Given the description of an element on the screen output the (x, y) to click on. 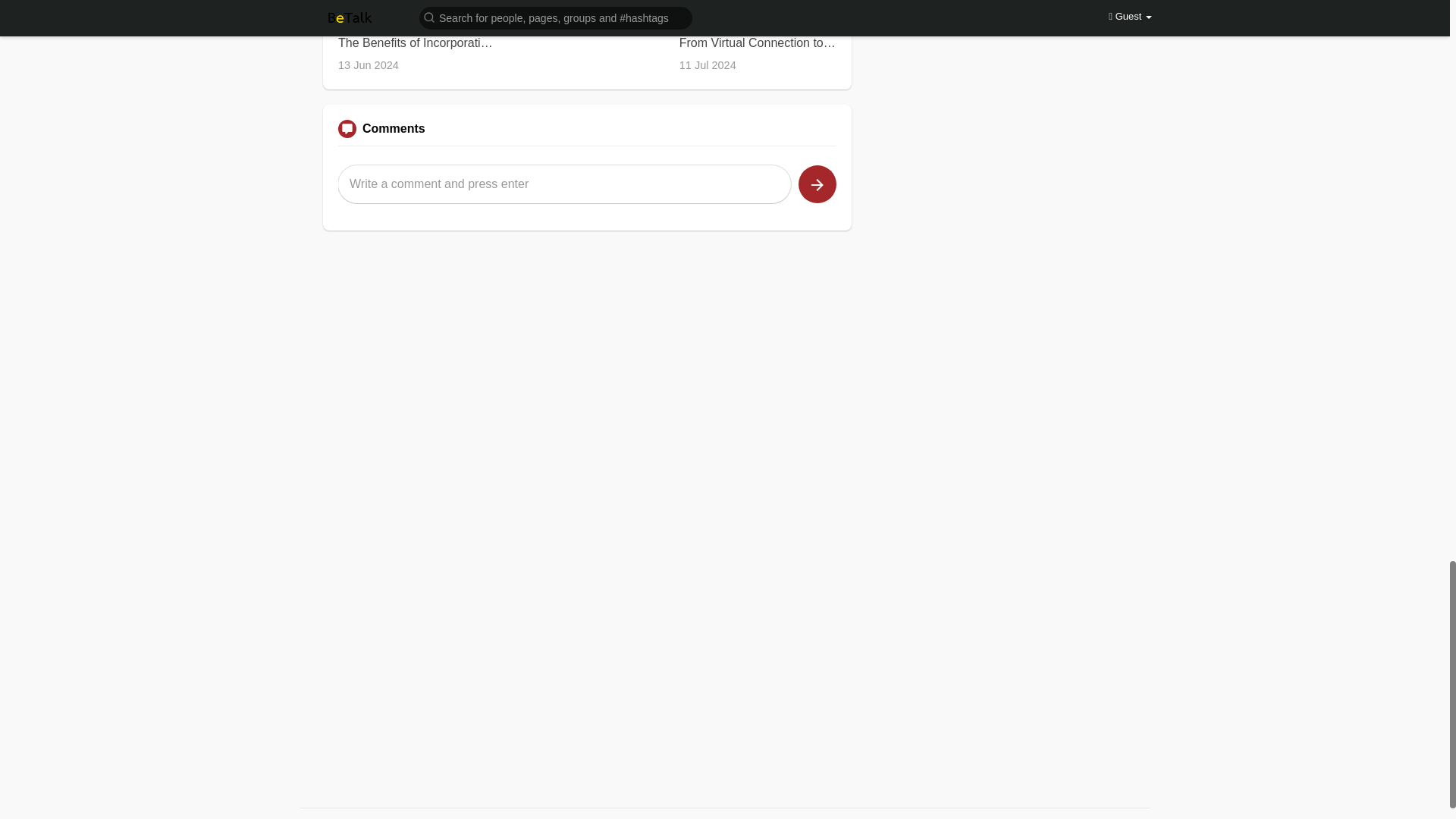
The Benefits of Incorporating a Barbell 25 Workout Routine (416, 42)
